Given the description of an element on the screen output the (x, y) to click on. 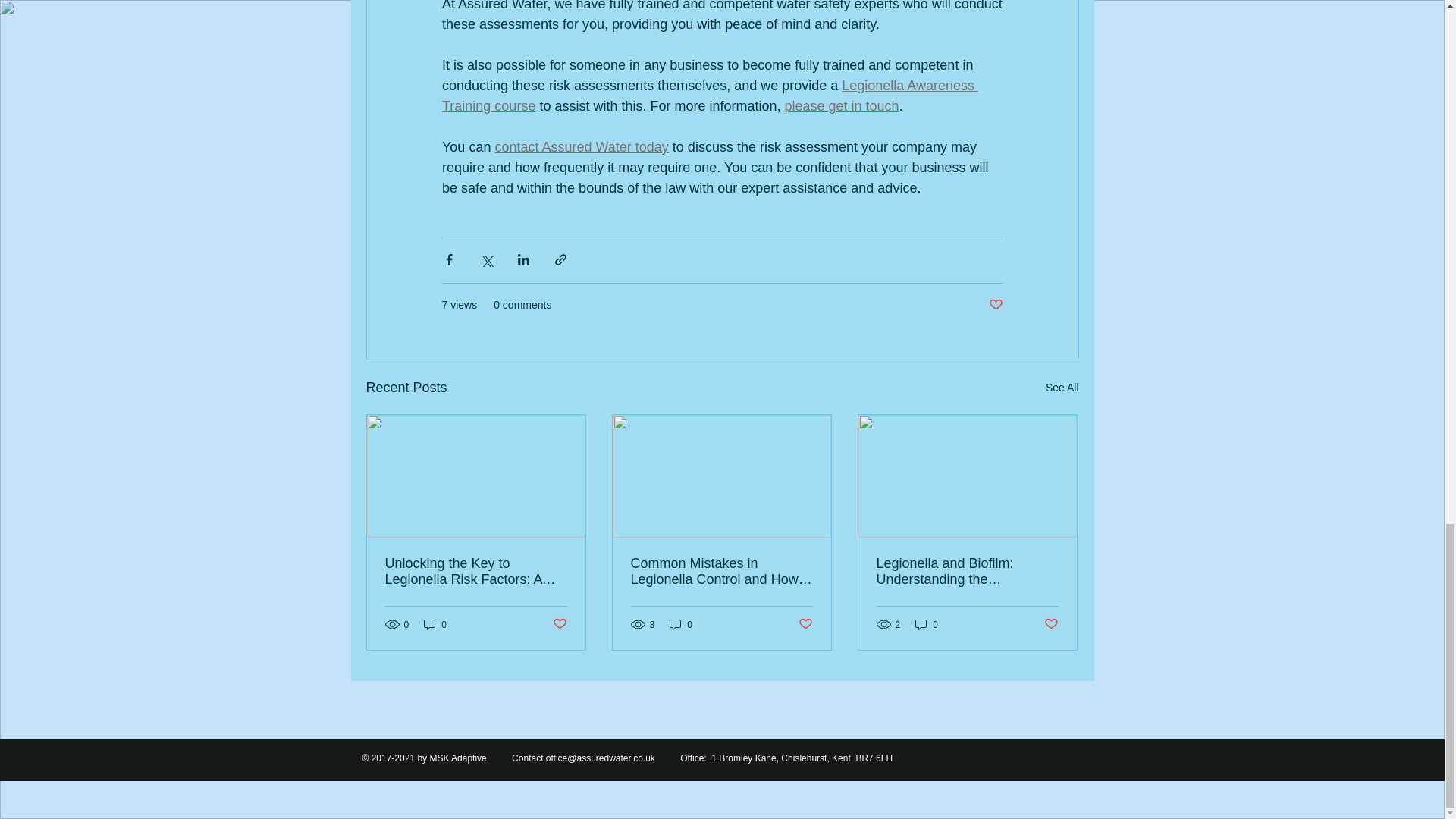
contact Assured Water today (581, 146)
Legionella Awareness Training course (708, 95)
Post not marked as liked (995, 304)
please get in touch (841, 105)
